Given the description of an element on the screen output the (x, y) to click on. 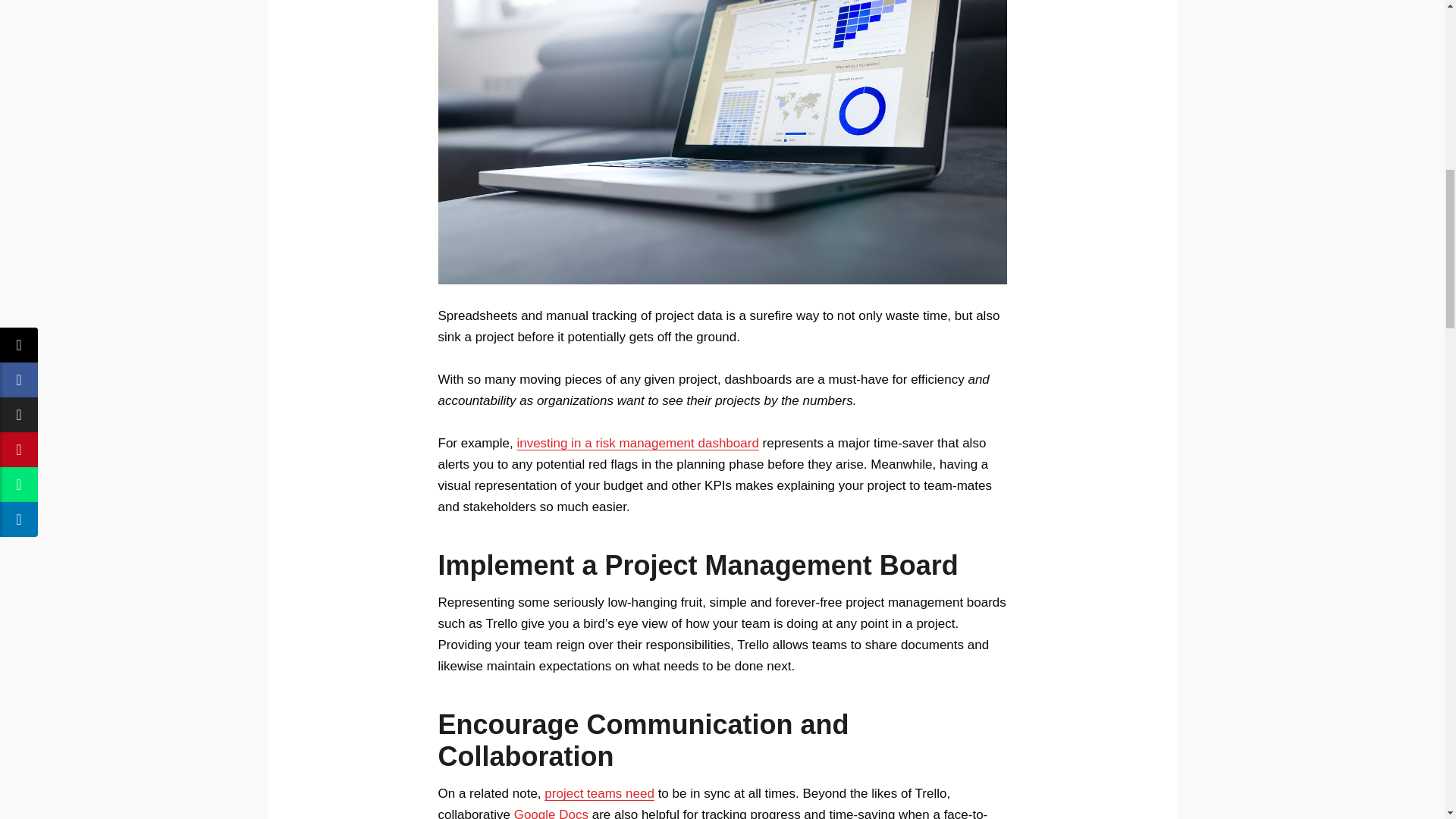
investing in a risk management dashboard (637, 442)
Google Docs (550, 813)
project teams need (598, 793)
